Given the description of an element on the screen output the (x, y) to click on. 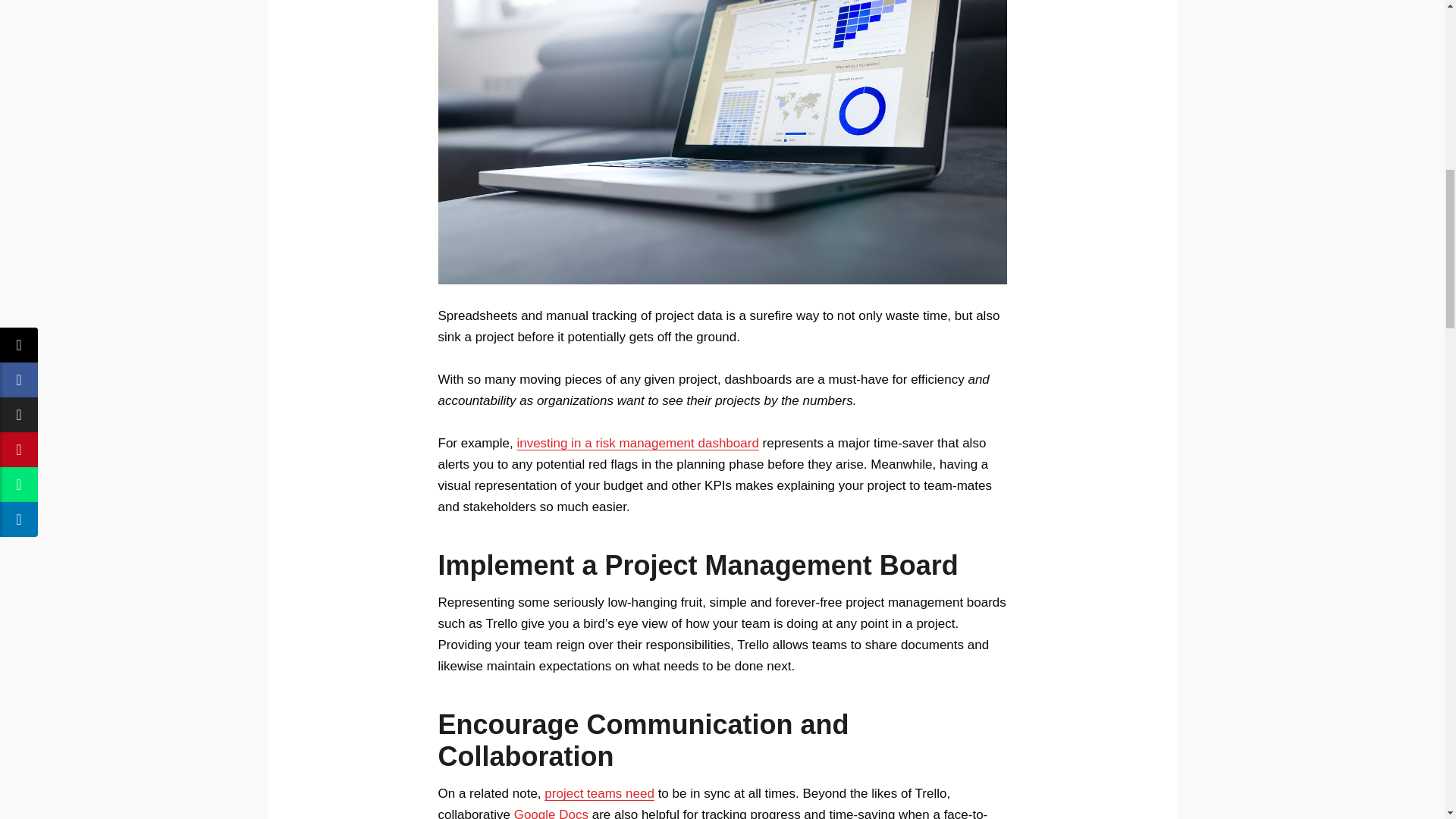
investing in a risk management dashboard (637, 442)
Google Docs (550, 813)
project teams need (598, 793)
